Given the description of an element on the screen output the (x, y) to click on. 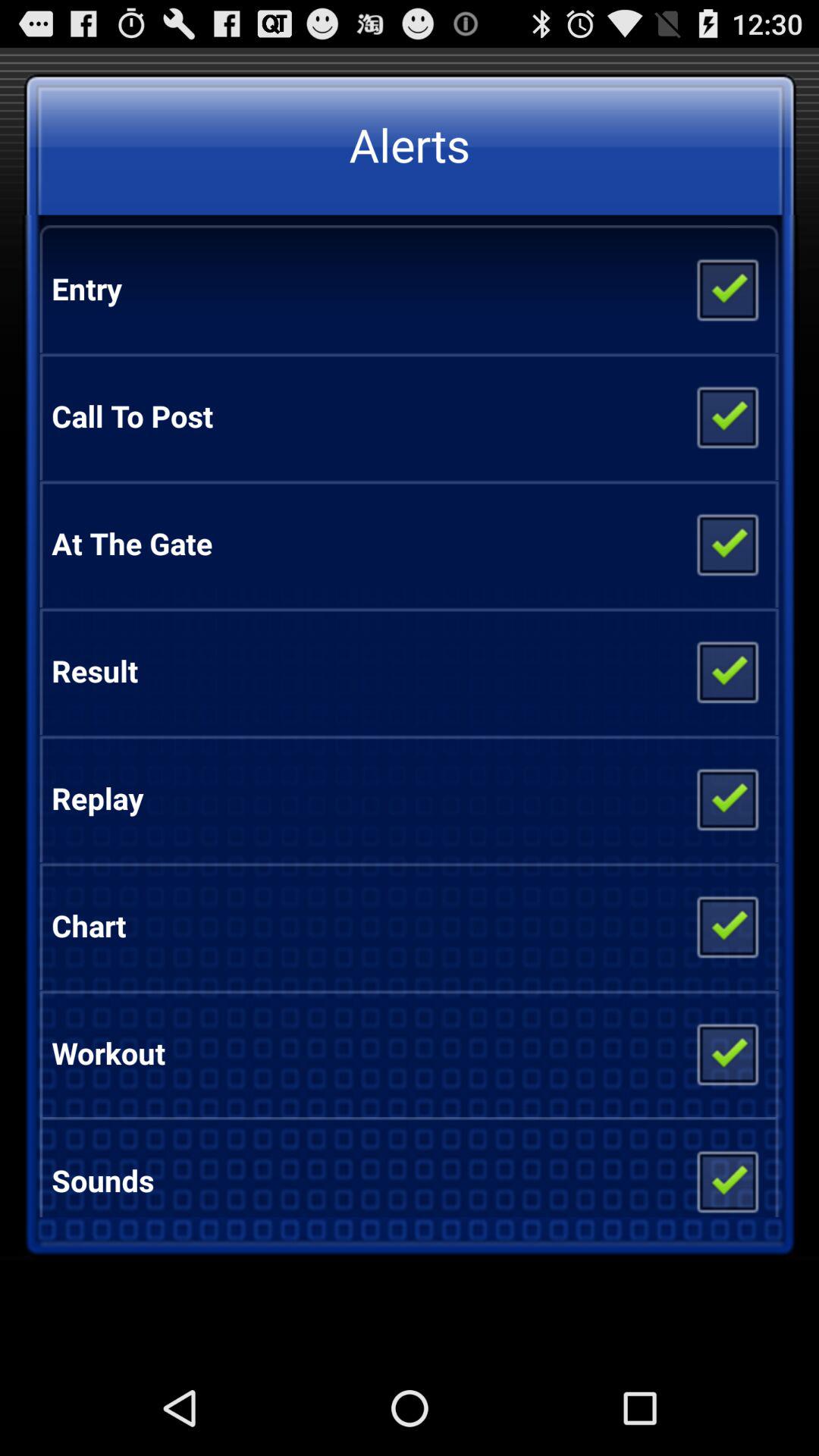
include in the list (726, 543)
